Given the description of an element on the screen output the (x, y) to click on. 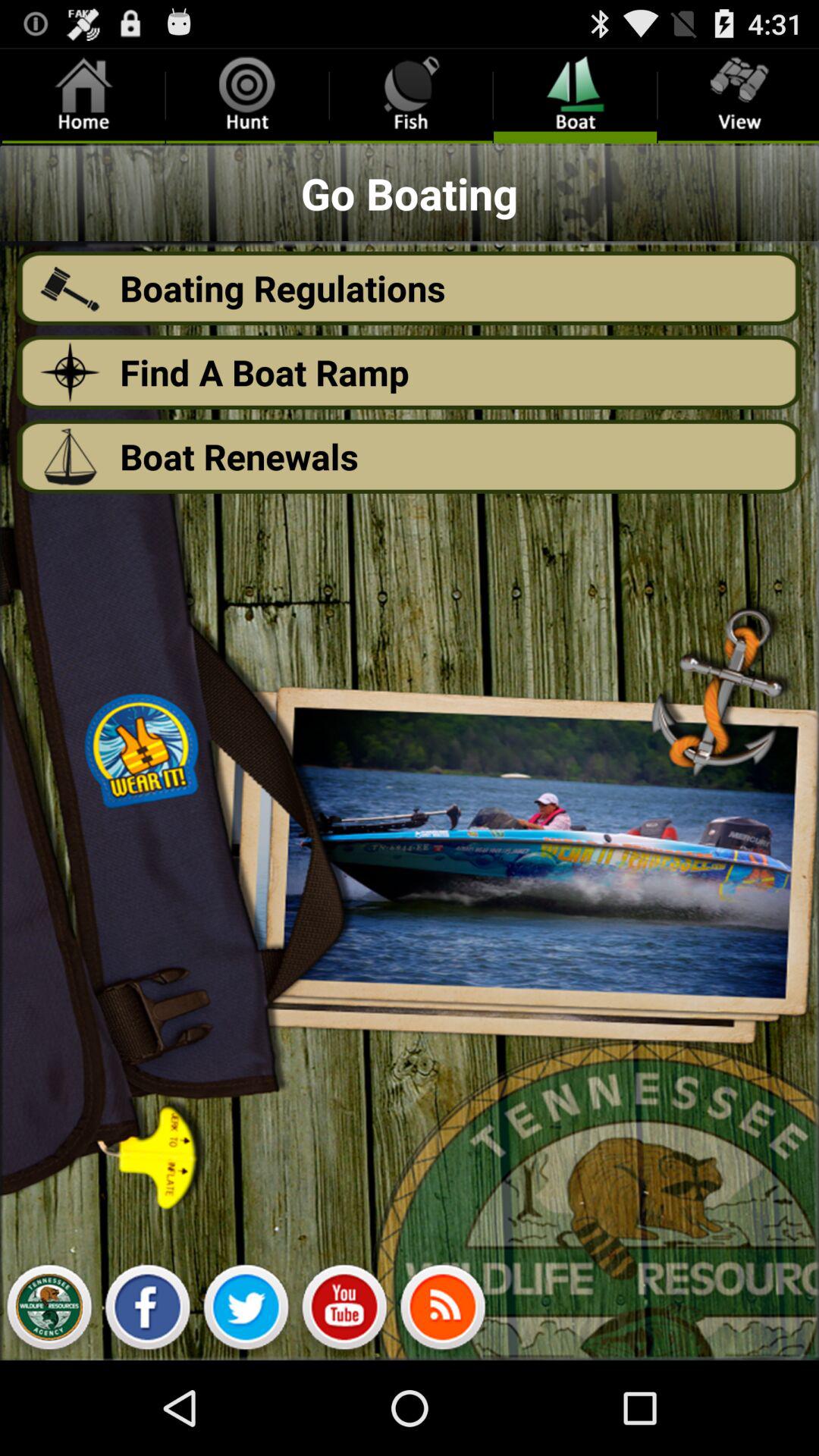
log in via facebook (147, 1311)
